Given the description of an element on the screen output the (x, y) to click on. 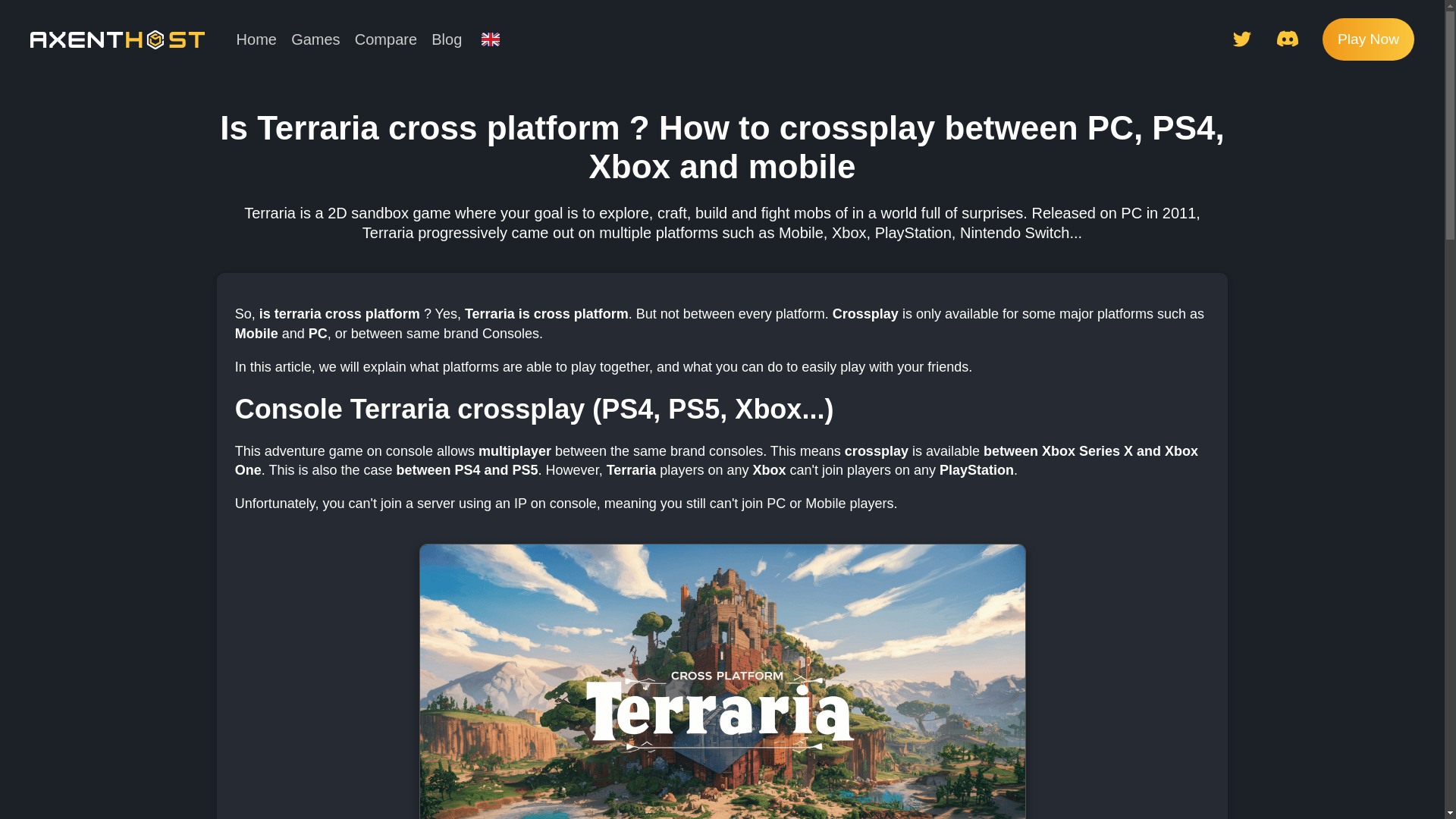
Compare (385, 39)
Home (255, 39)
Play Now (1367, 38)
Games (315, 39)
Blog (446, 39)
